Given the description of an element on the screen output the (x, y) to click on. 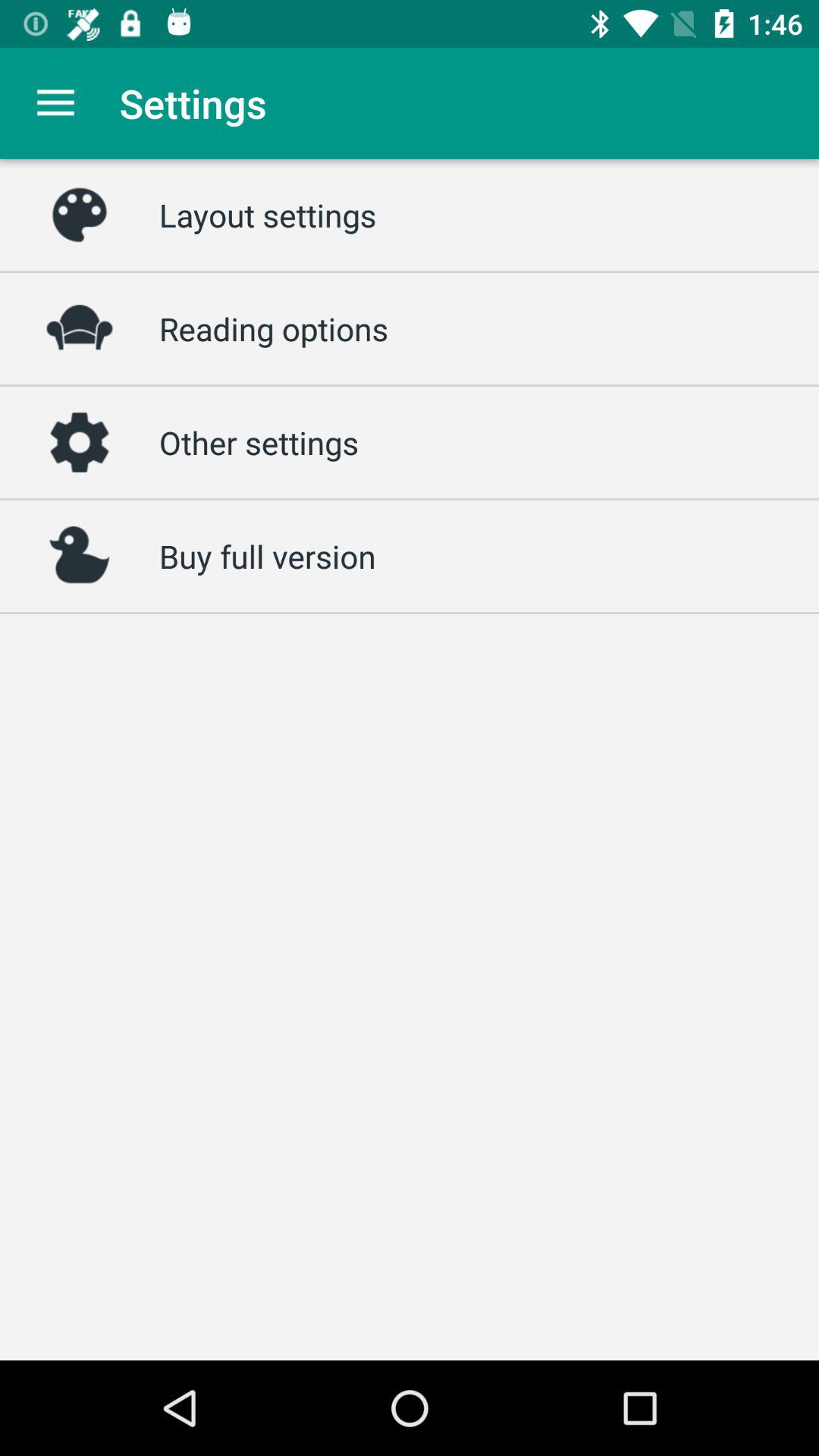
open the item to the left of the settings item (55, 103)
